Given the description of an element on the screen output the (x, y) to click on. 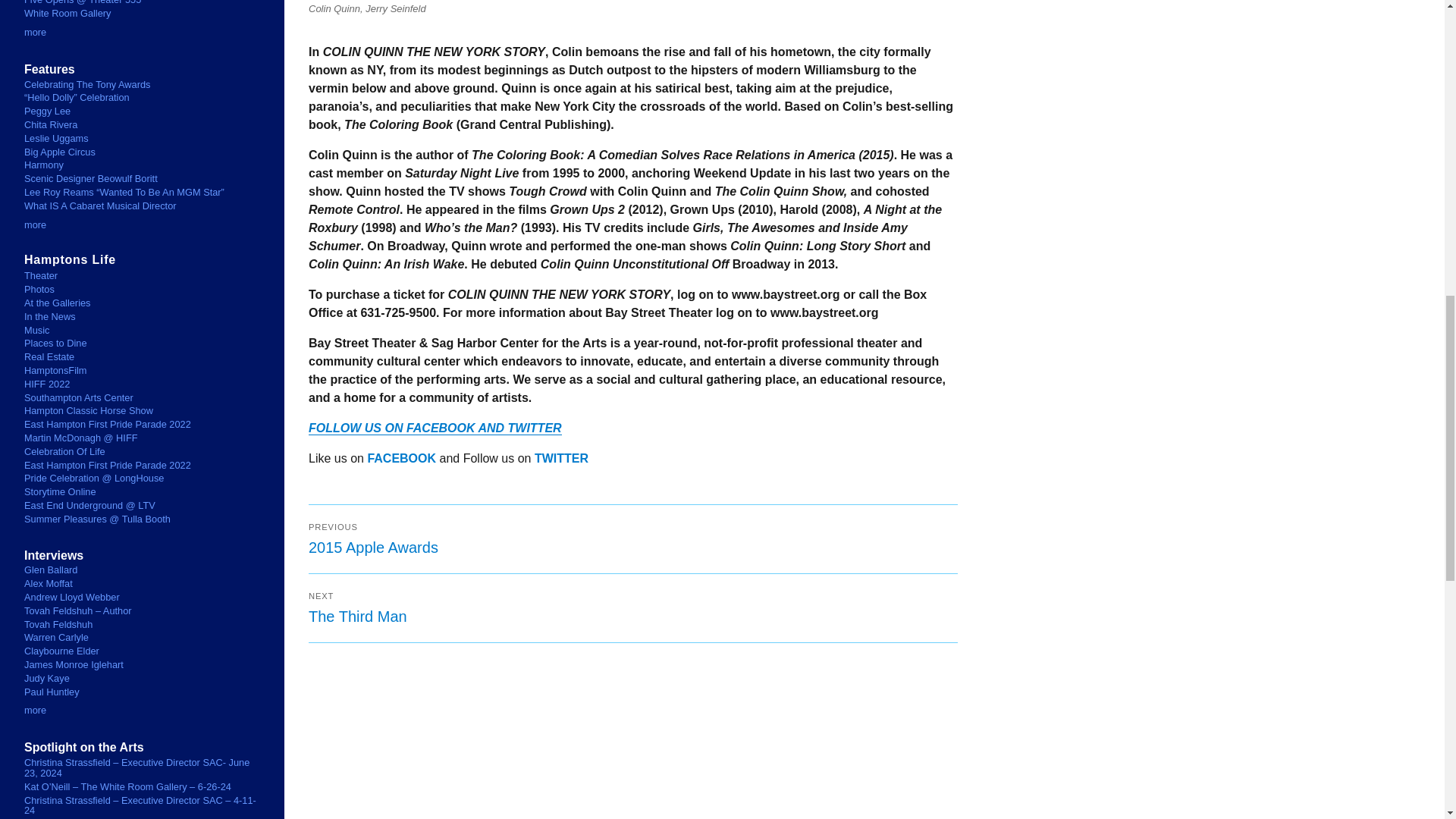
TWITTER (633, 608)
FOLLOW US ON FACEBOOK AND TWITTER (633, 539)
FACEBOOK (561, 458)
